Given the description of an element on the screen output the (x, y) to click on. 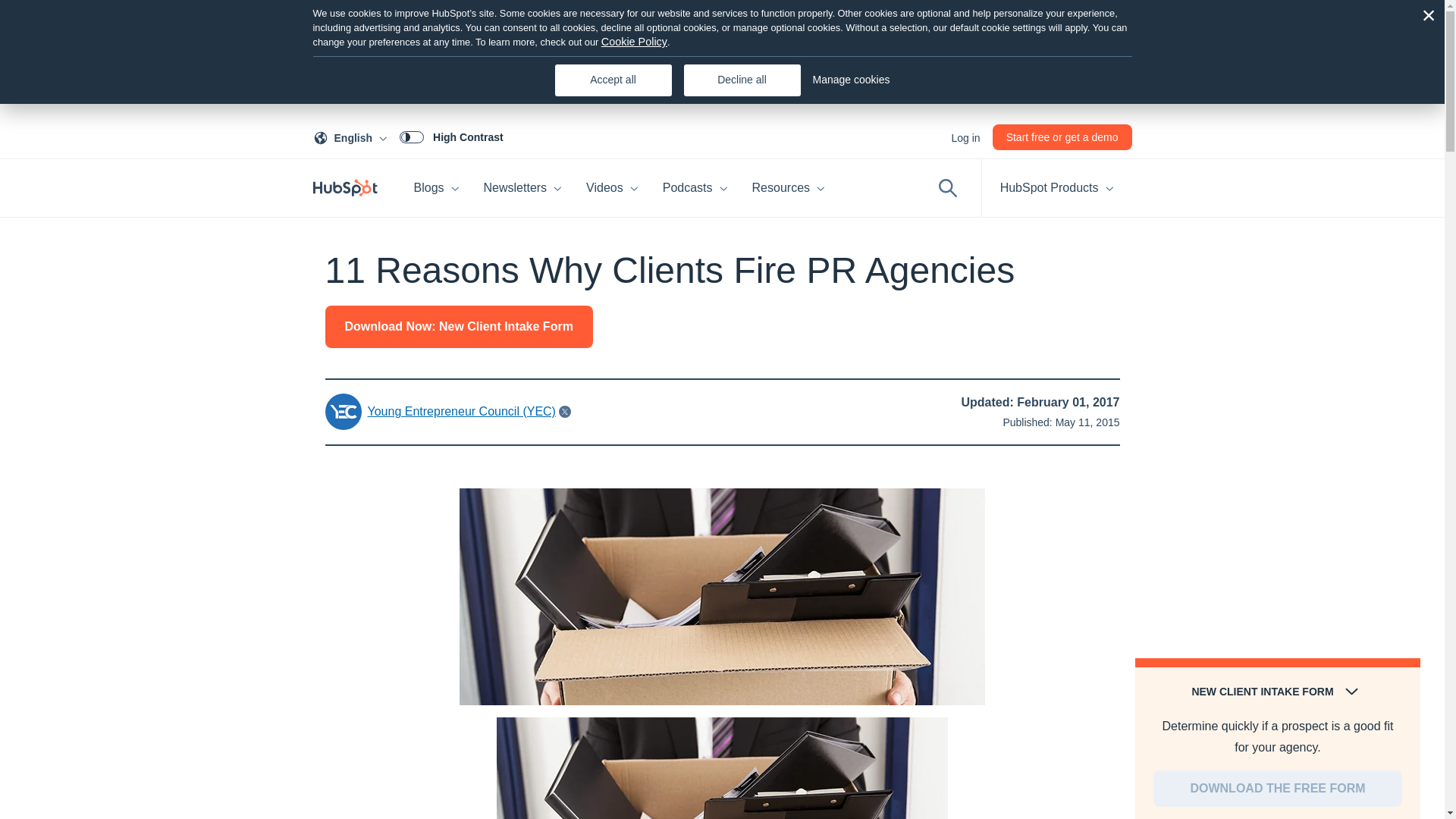
Blogs (436, 187)
High Contrast (353, 136)
Newsletters (450, 137)
Start free or get a demo (523, 187)
fire-public-relations.png (1062, 136)
Log in (722, 596)
